Given the description of an element on the screen output the (x, y) to click on. 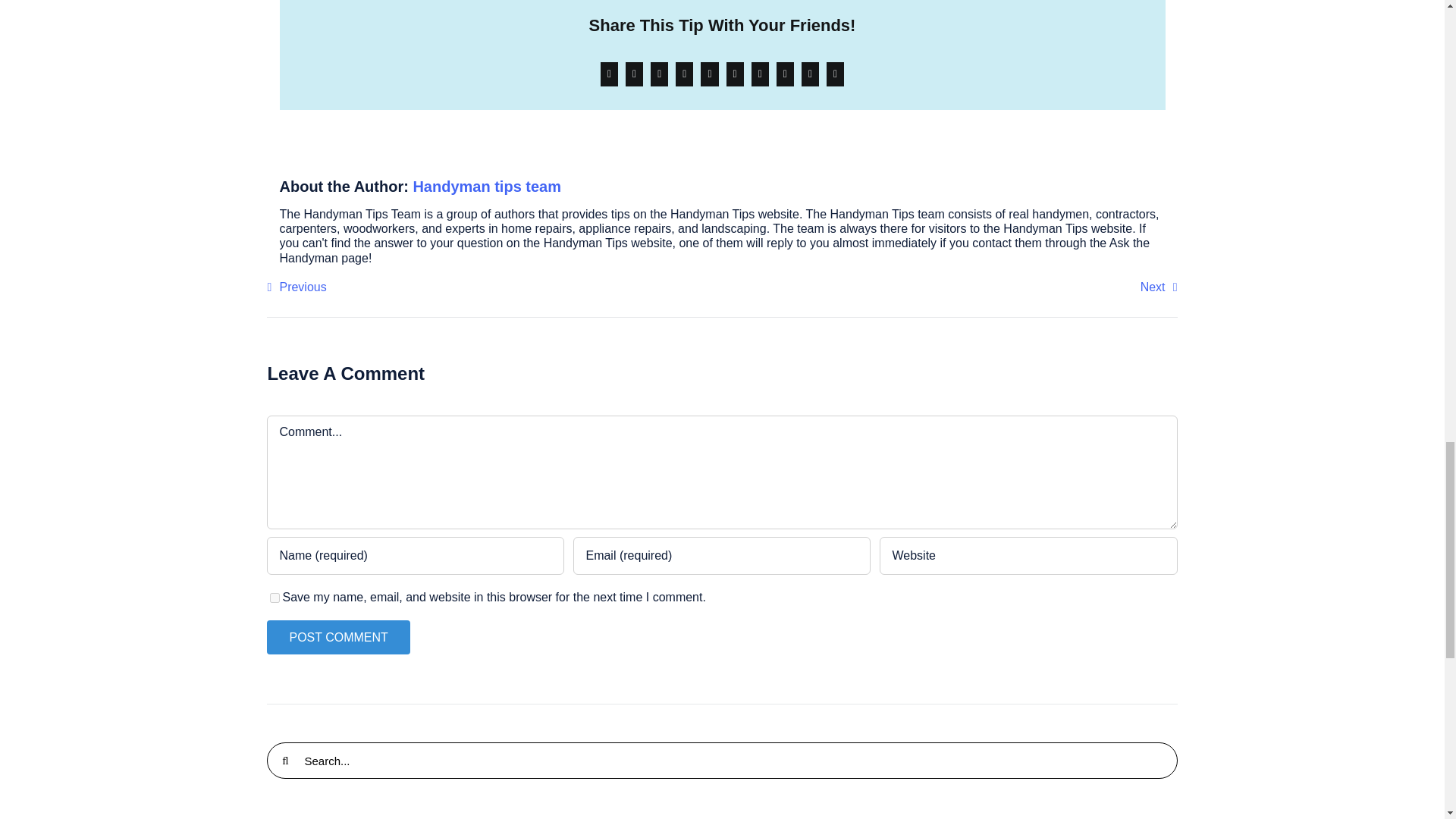
yes (274, 597)
Handyman tips team (486, 186)
Previous (296, 287)
Post Comment (337, 636)
Post Comment (337, 636)
Next (1158, 287)
